Given the description of an element on the screen output the (x, y) to click on. 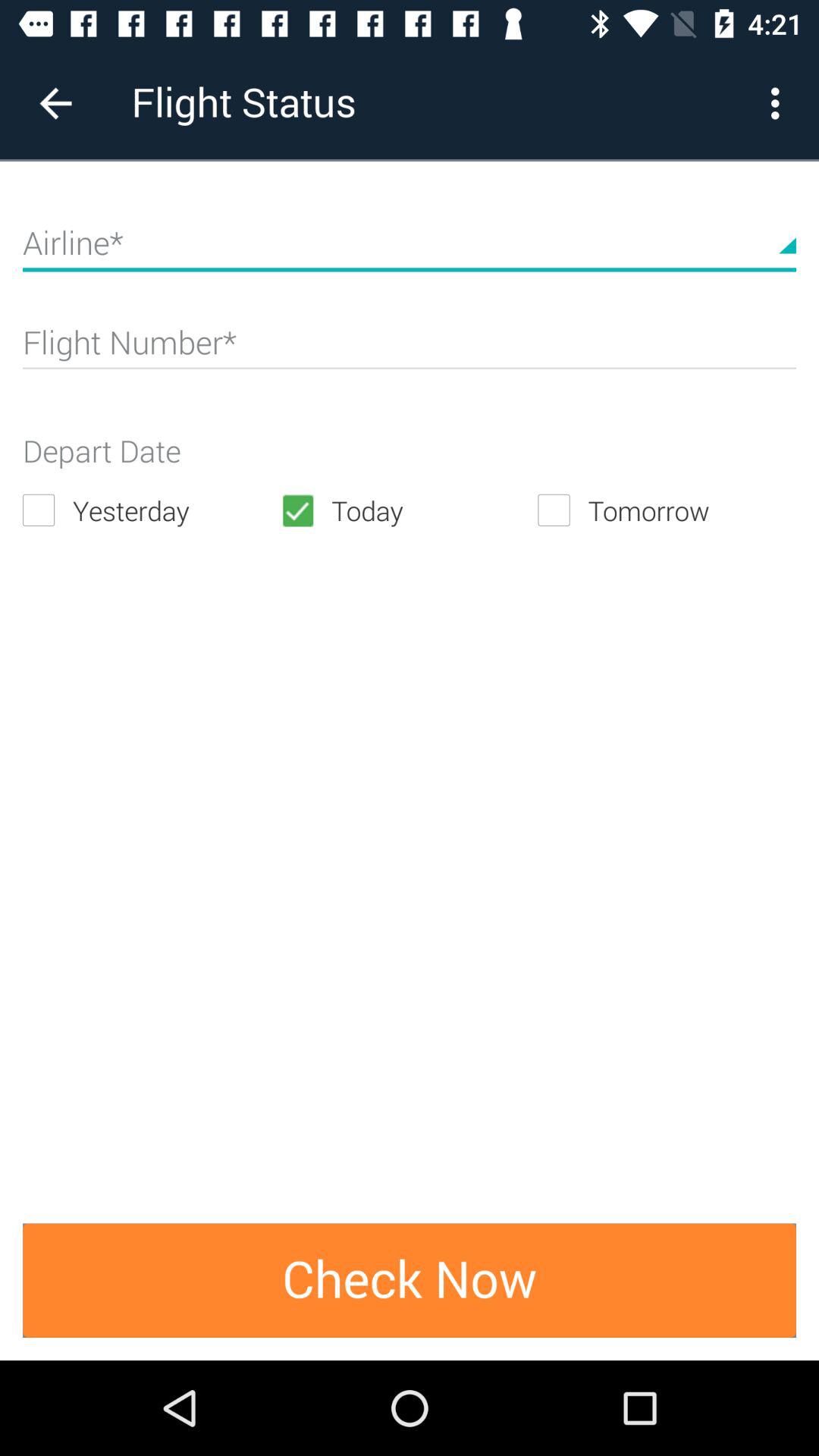
tap the item next to flight status item (779, 103)
